Given the description of an element on the screen output the (x, y) to click on. 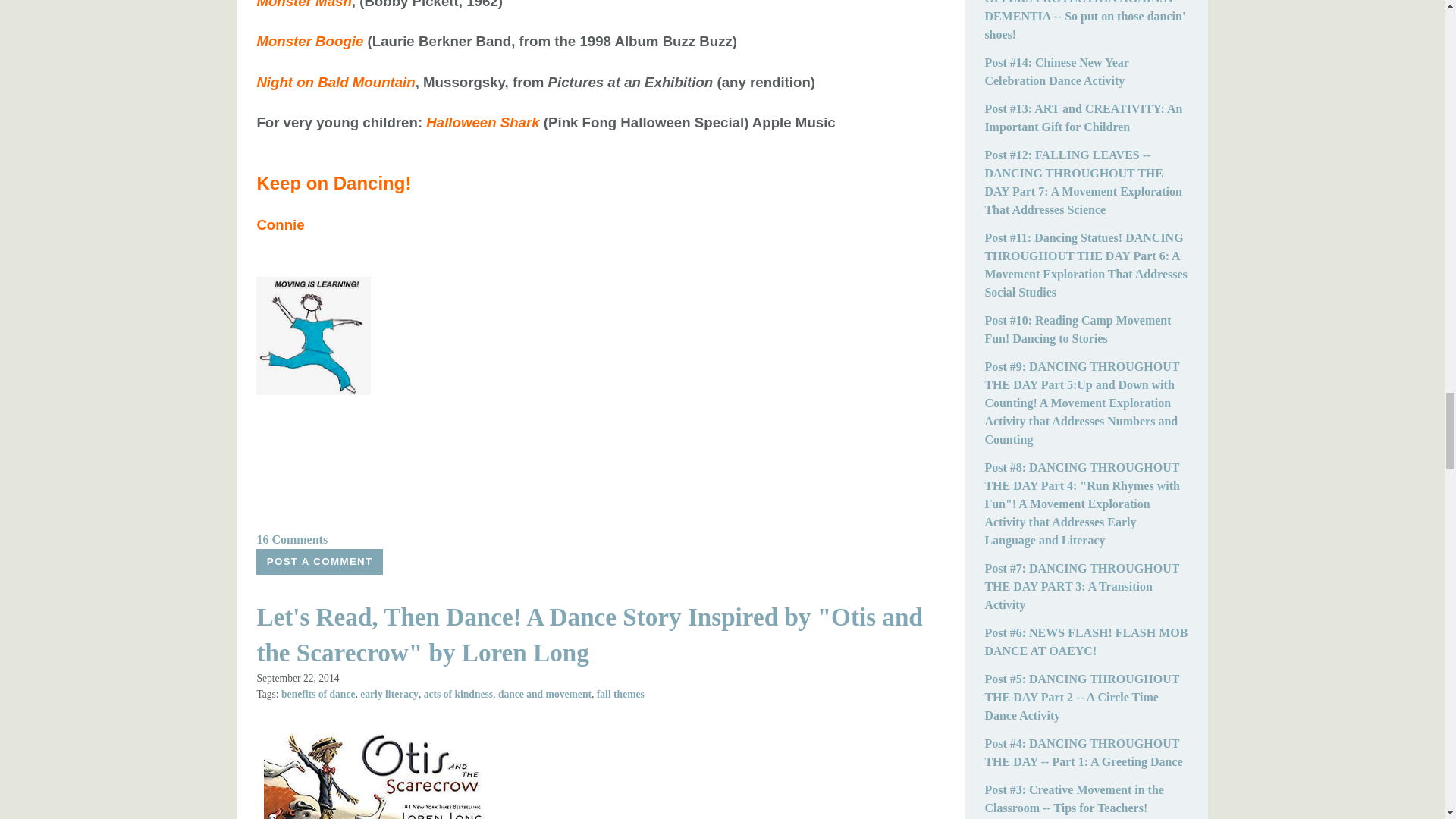
fall themes (620, 694)
dance and movement (544, 694)
POST A COMMENT (319, 561)
acts of kindness (458, 694)
benefits of dance (318, 694)
16 Comments (291, 539)
early literacy (389, 694)
